Given the description of an element on the screen output the (x, y) to click on. 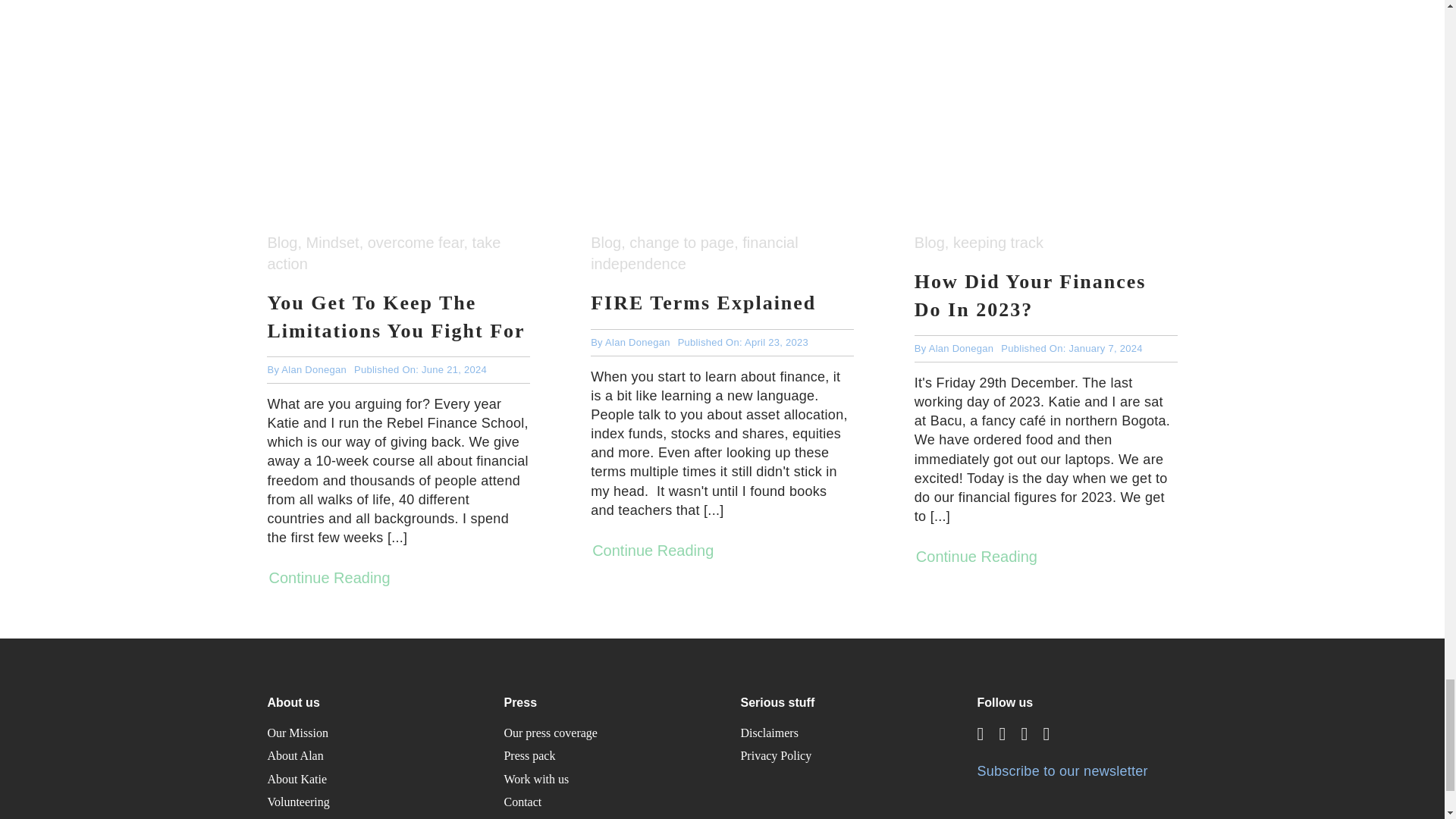
Posts by Alan Donegan (961, 348)
Posts by Alan Donegan (313, 369)
Posts by Alan Donegan (637, 342)
